Given the description of an element on the screen output the (x, y) to click on. 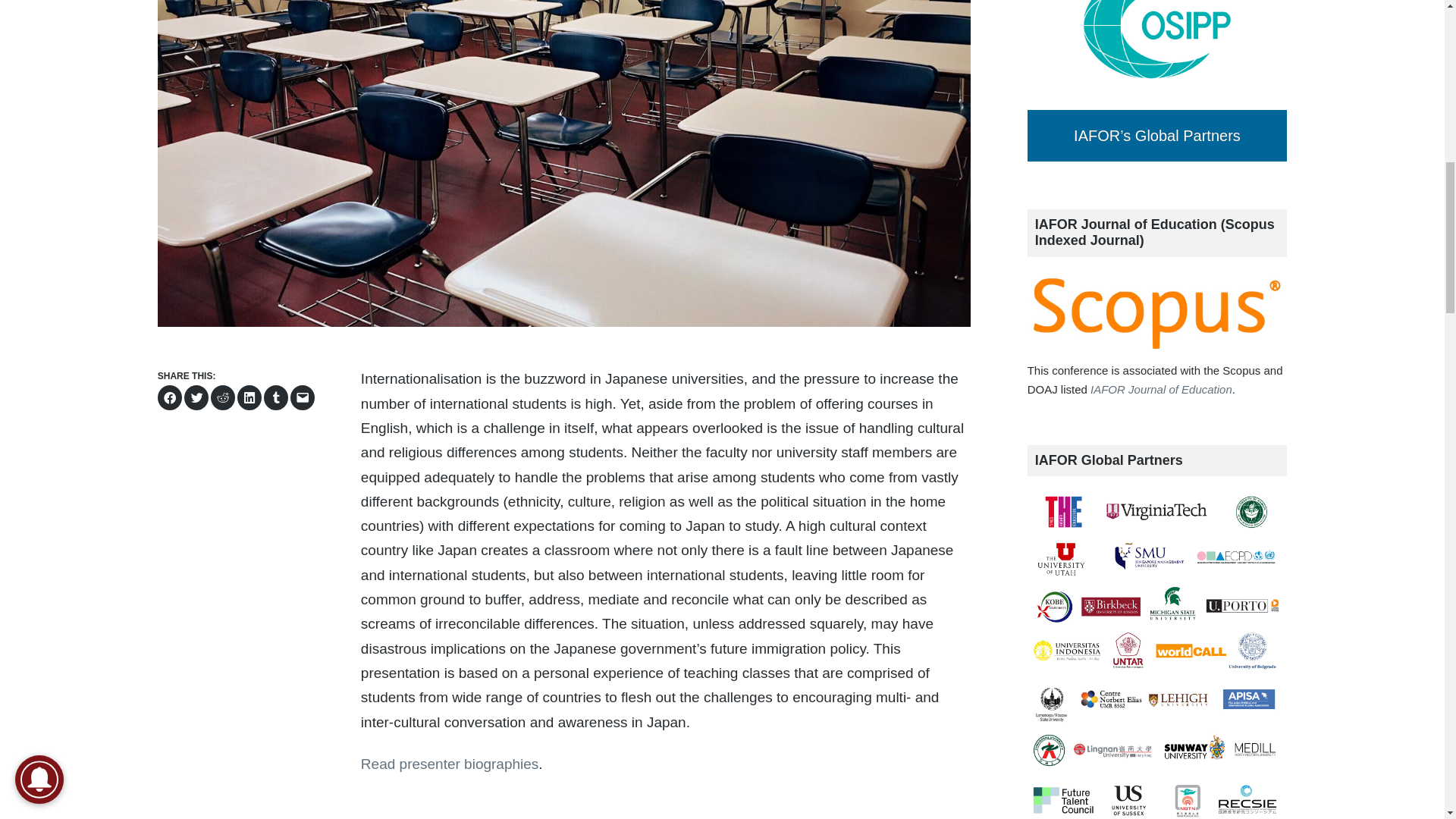
Click to share on Twitter (196, 397)
Click to share on Facebook (169, 397)
Click to share on Tumblr (275, 397)
Click to share on LinkedIn (249, 397)
Click to share on Reddit (222, 397)
Click to email a link to a friend (301, 397)
